Given the description of an element on the screen output the (x, y) to click on. 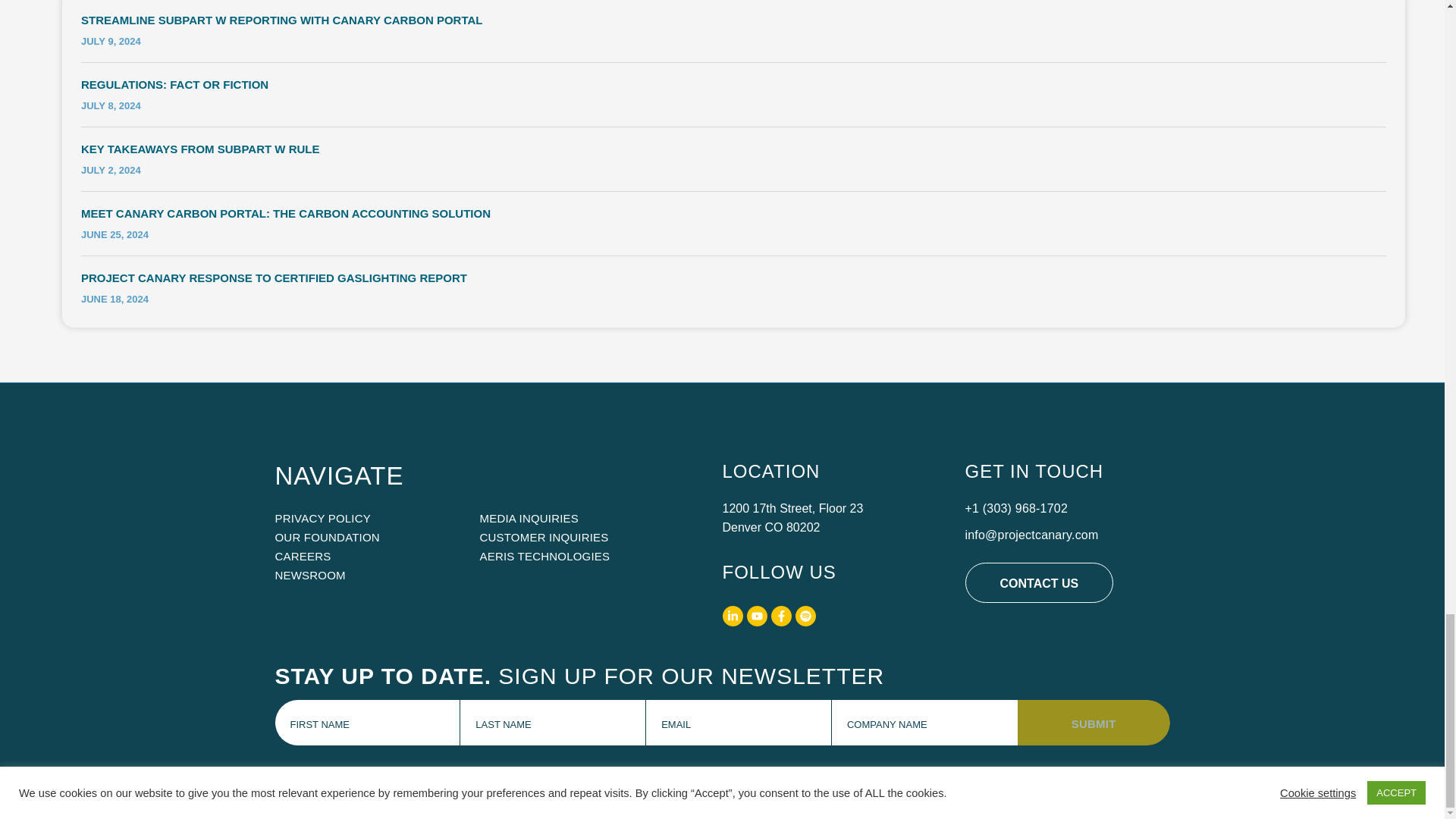
Submit (1093, 722)
